Given the description of an element on the screen output the (x, y) to click on. 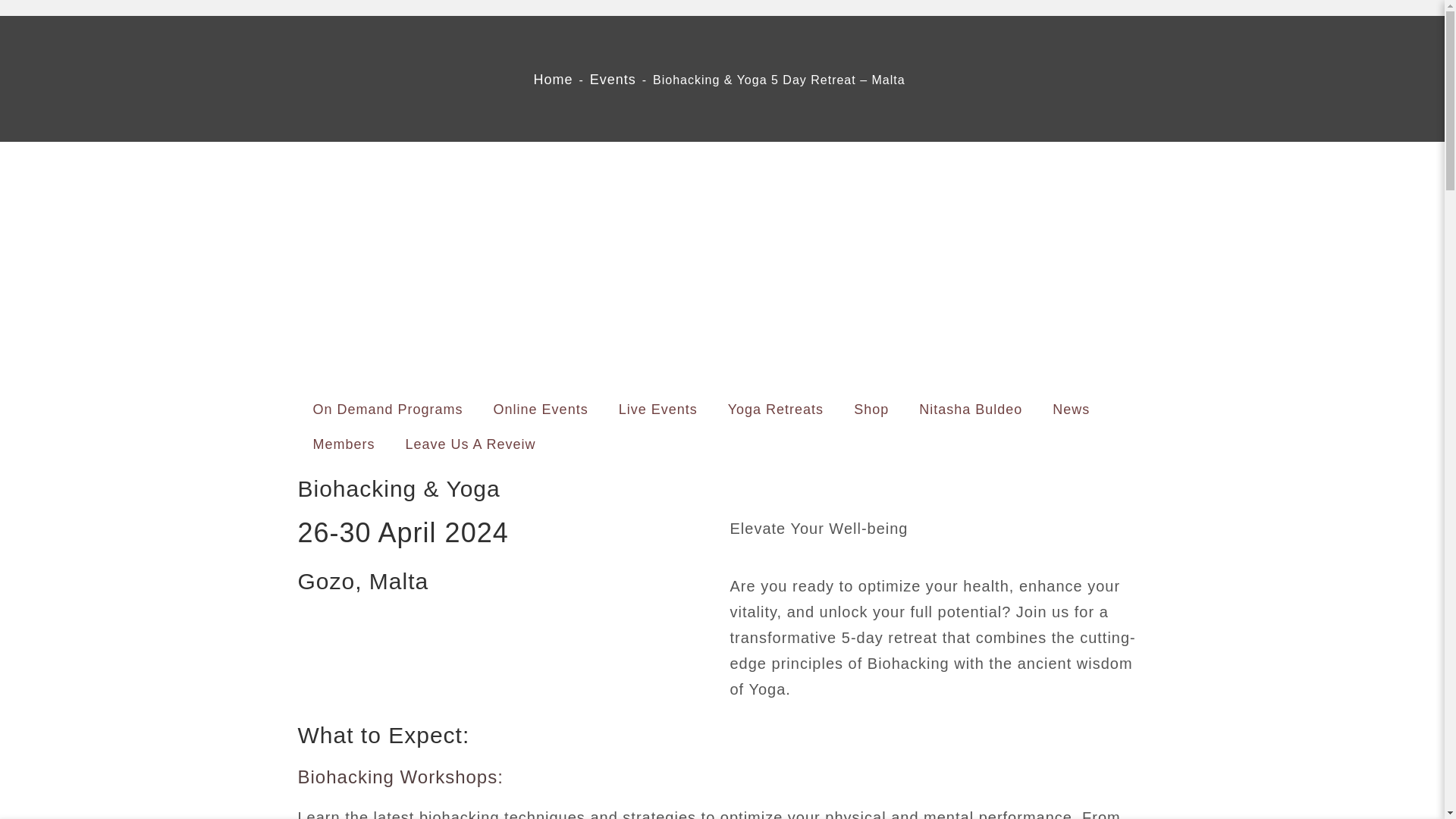
Events (612, 79)
On Demand Programs (387, 409)
Nitasha Buldeo (970, 409)
Leave Us A Reveiw (470, 443)
Home (552, 79)
Online Events (541, 409)
Yoga Retreats (775, 409)
Members (343, 443)
Home (552, 79)
Live Events (658, 409)
